Given the description of an element on the screen output the (x, y) to click on. 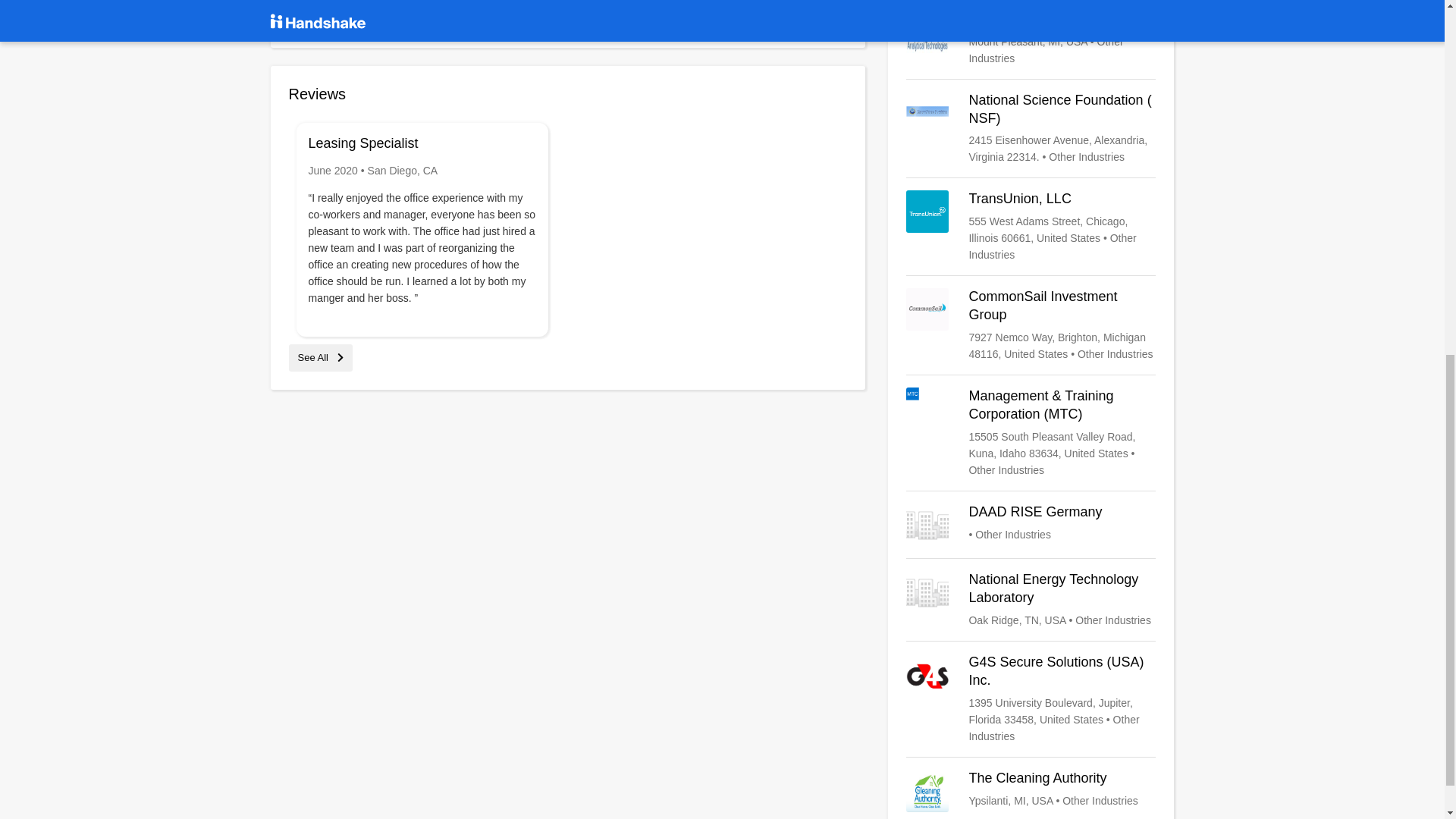
DAAD RISE Germany (1030, 524)
Prism Analytical Technologies (1030, 38)
TransUnion, LLC (1030, 226)
National Energy Technology Laboratory (1030, 599)
CommonSail Investment Group (1030, 325)
See All (320, 357)
The Cleaning Authority (1030, 790)
